Given the description of an element on the screen output the (x, y) to click on. 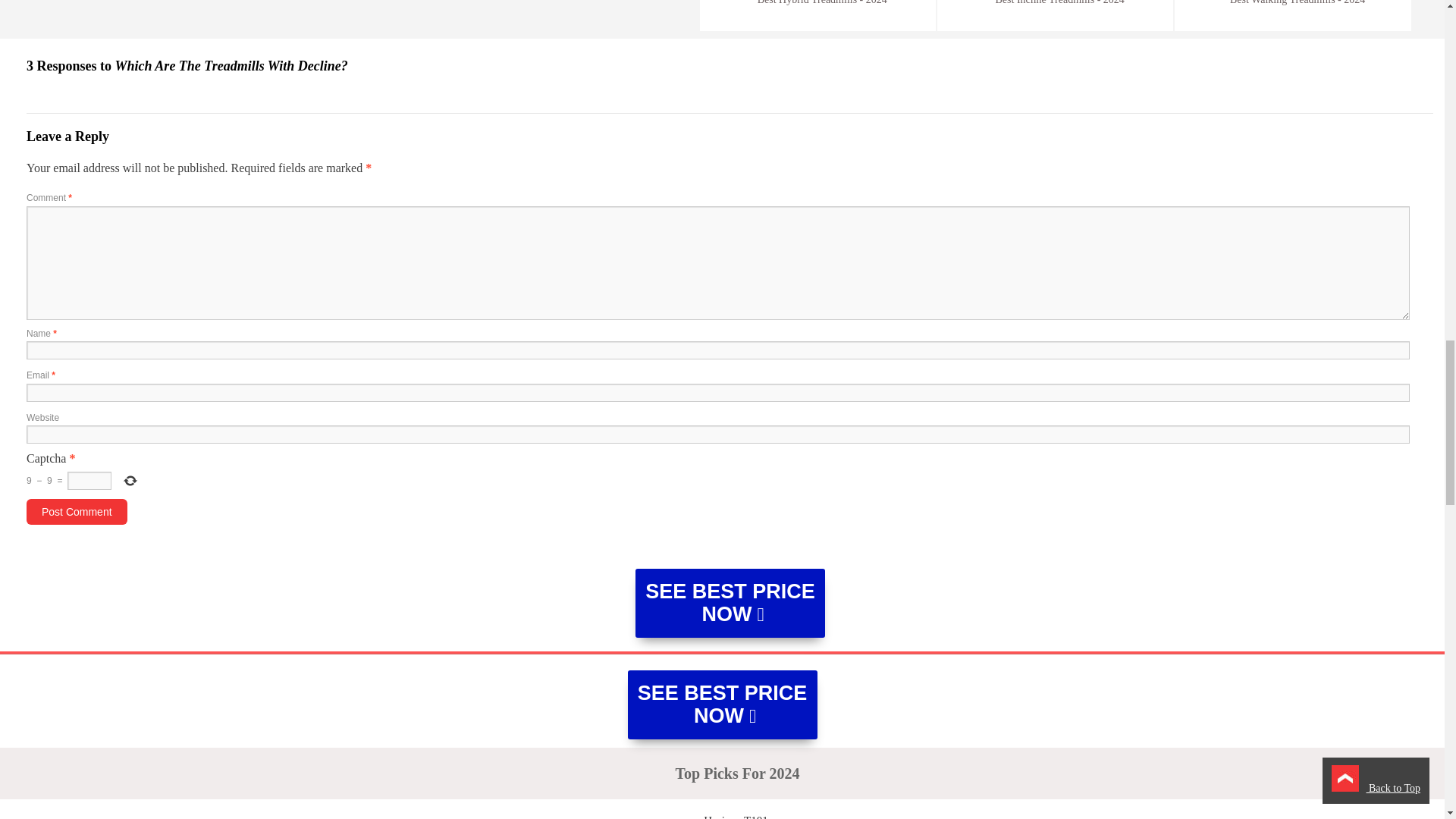
Post Comment (77, 511)
